Given the description of an element on the screen output the (x, y) to click on. 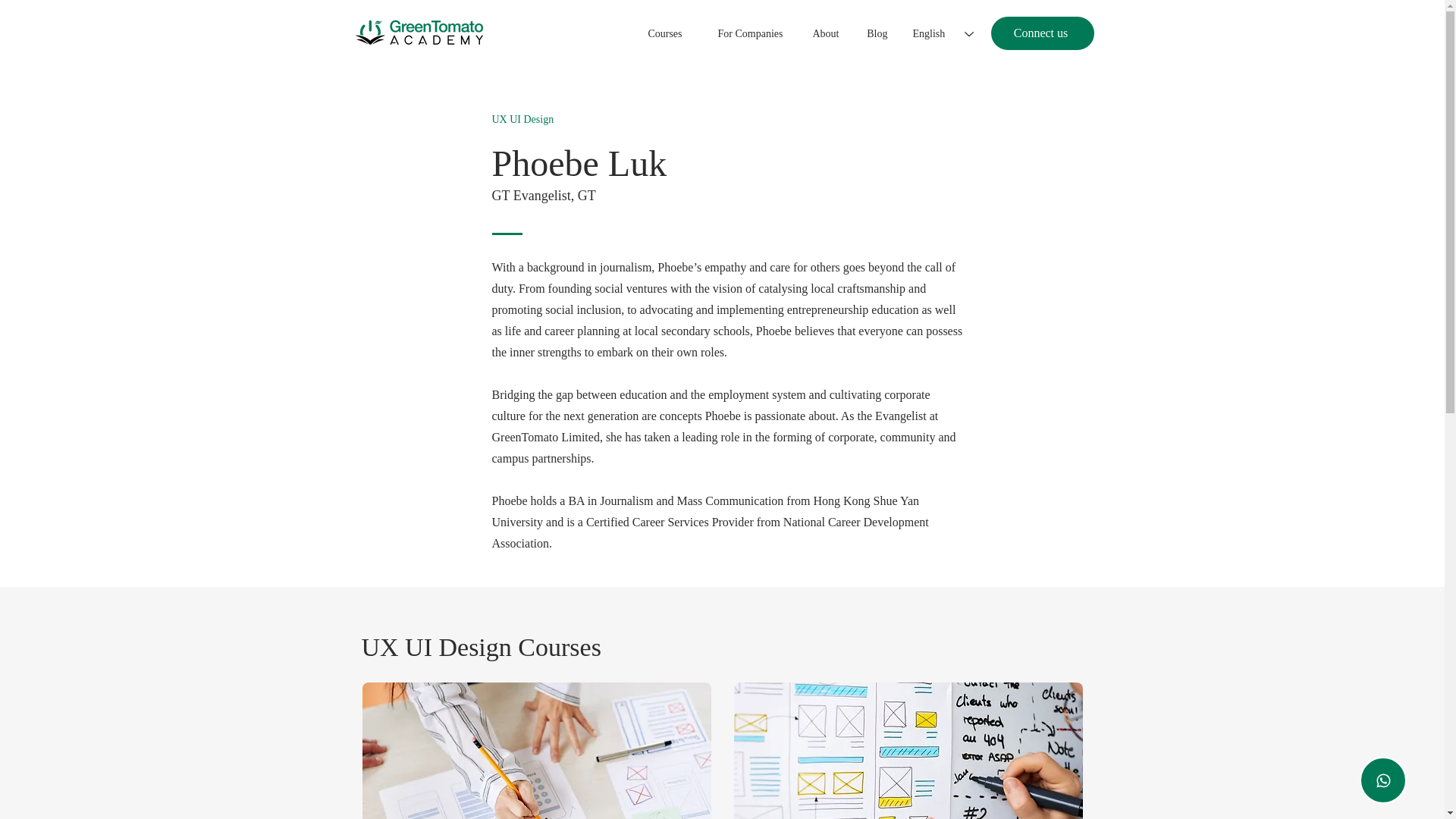
Blog (870, 33)
Connect us (1041, 32)
Courses (654, 33)
About (817, 33)
For Companies (740, 33)
